Given the description of an element on the screen output the (x, y) to click on. 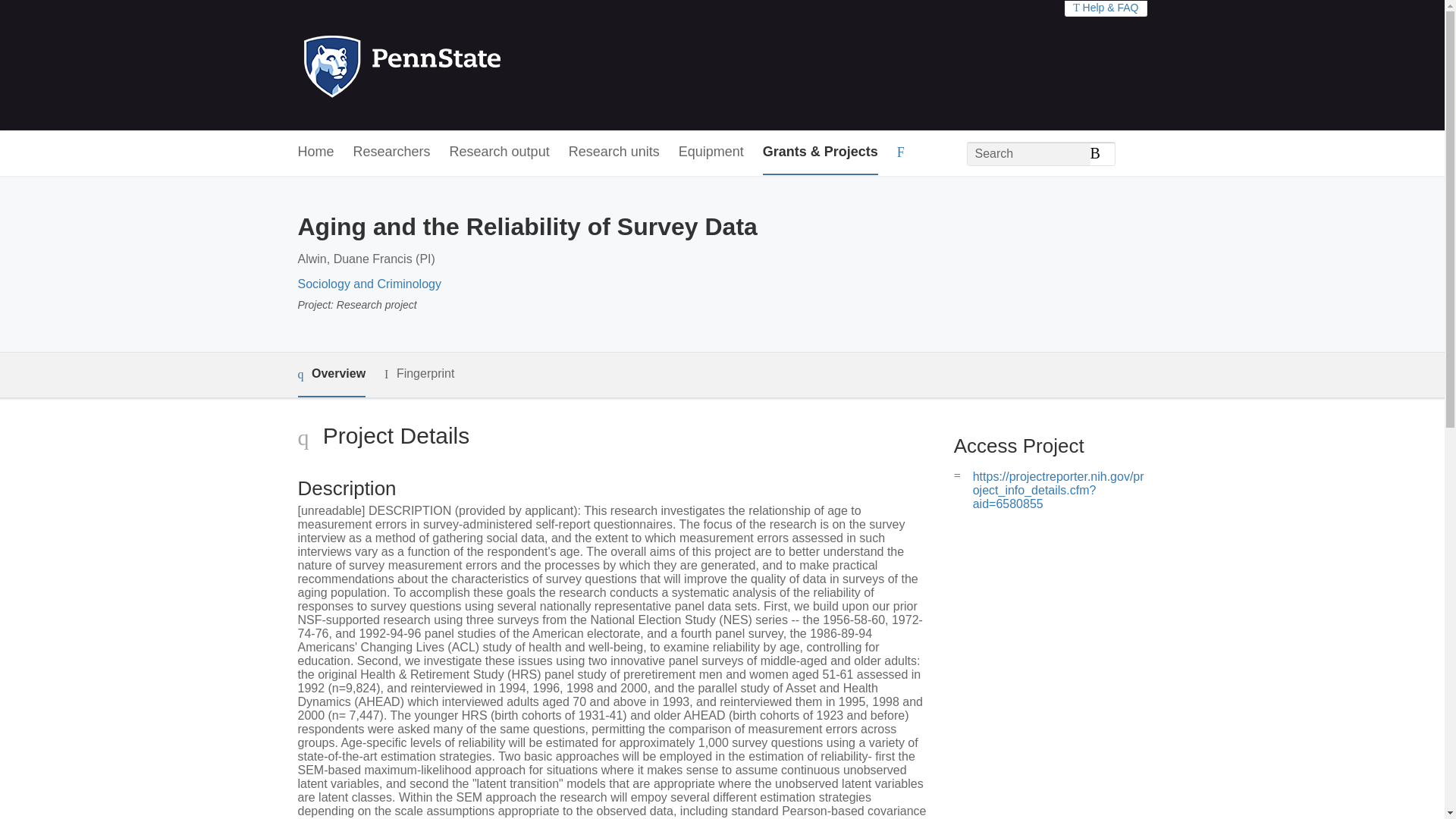
Sociology and Criminology (369, 283)
Research output (499, 152)
Fingerprint (419, 373)
Home (315, 152)
Penn State Home (467, 65)
Overview (331, 374)
Researchers (391, 152)
Equipment (711, 152)
Research units (614, 152)
